Given the description of an element on the screen output the (x, y) to click on. 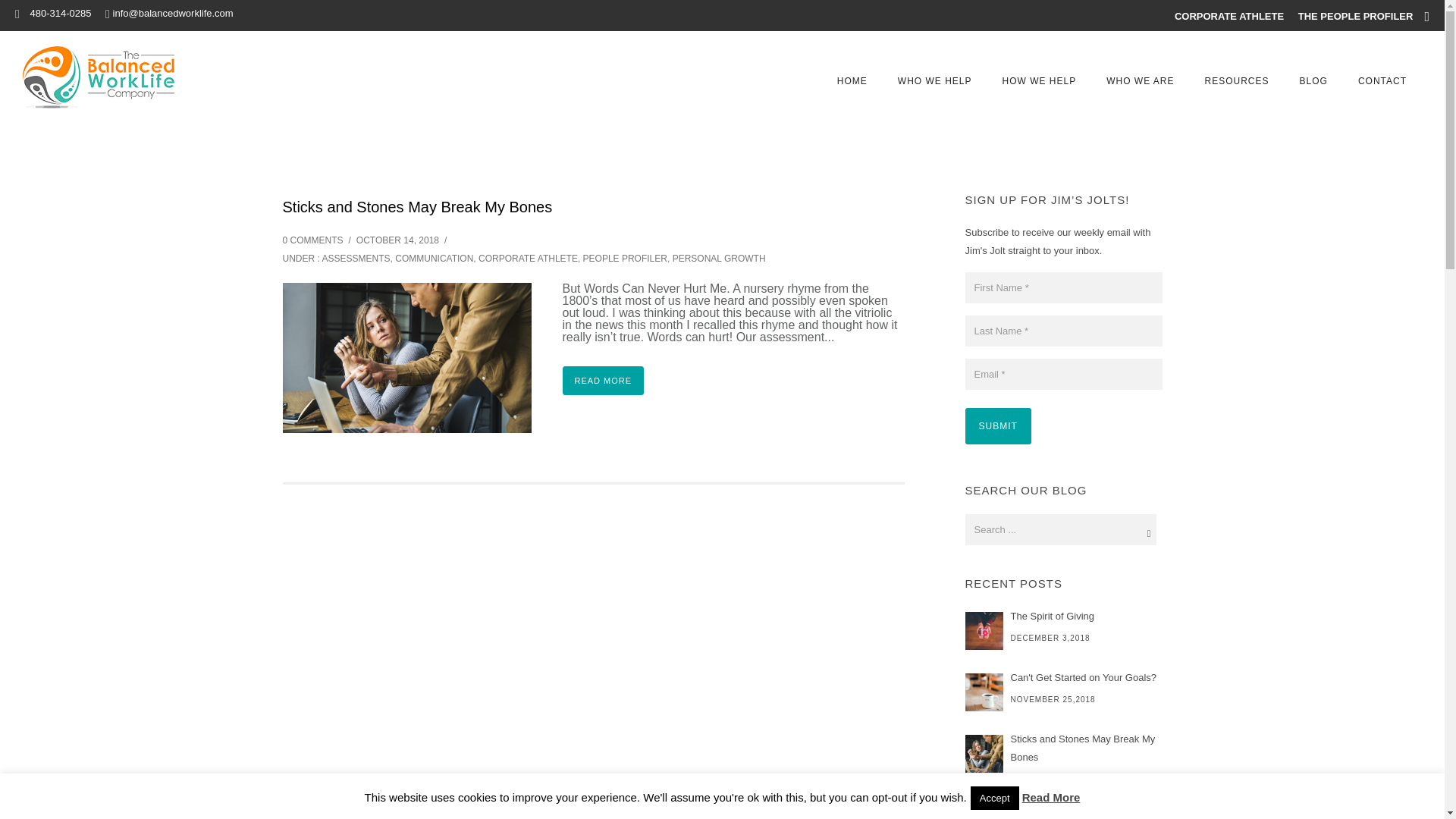
HOW WE HELP (1039, 81)
Blog (1313, 81)
CORPORATE ATHLETE (1229, 16)
HOME (852, 81)
WHO WE HELP (934, 81)
CONTACT (1382, 81)
RESOURCES (1236, 81)
THE PEOPLE PROFILER (1355, 16)
480-314-0285 (59, 12)
How We Help (1039, 81)
Resources (1236, 81)
BLOG (1313, 81)
Who We Help (934, 81)
WHO WE ARE (1139, 81)
Contact (1382, 81)
